Given the description of an element on the screen output the (x, y) to click on. 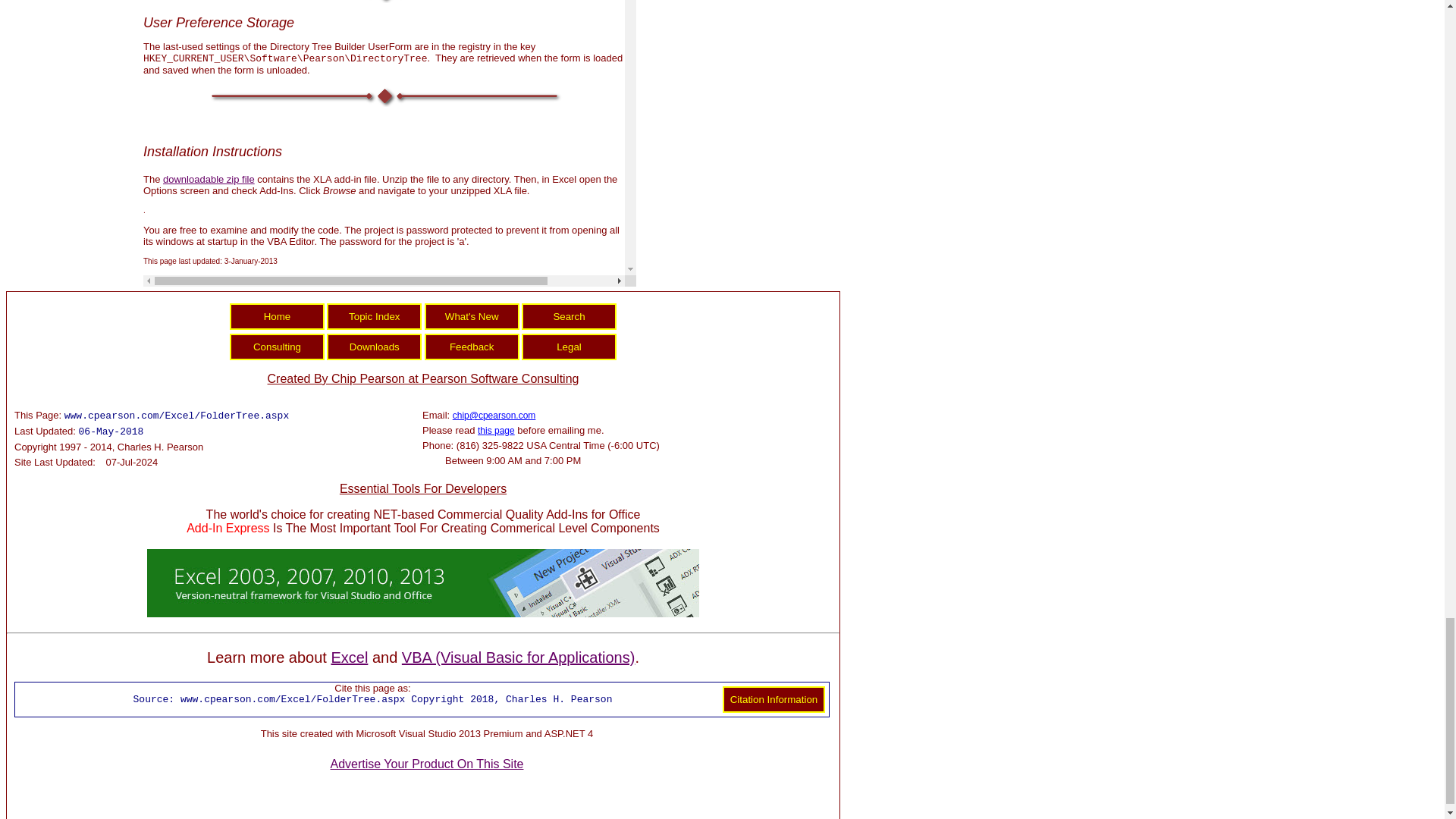
Consulting (277, 346)
Home (277, 316)
What's New (472, 316)
Home (277, 316)
Downloads (374, 346)
Feedback (472, 346)
Citation Information (773, 699)
Excel (349, 657)
Legal (568, 346)
Feedback (472, 346)
Downloads (374, 346)
Search (568, 316)
Legal (568, 346)
Citation Information (773, 699)
Consulting (277, 346)
